Given the description of an element on the screen output the (x, y) to click on. 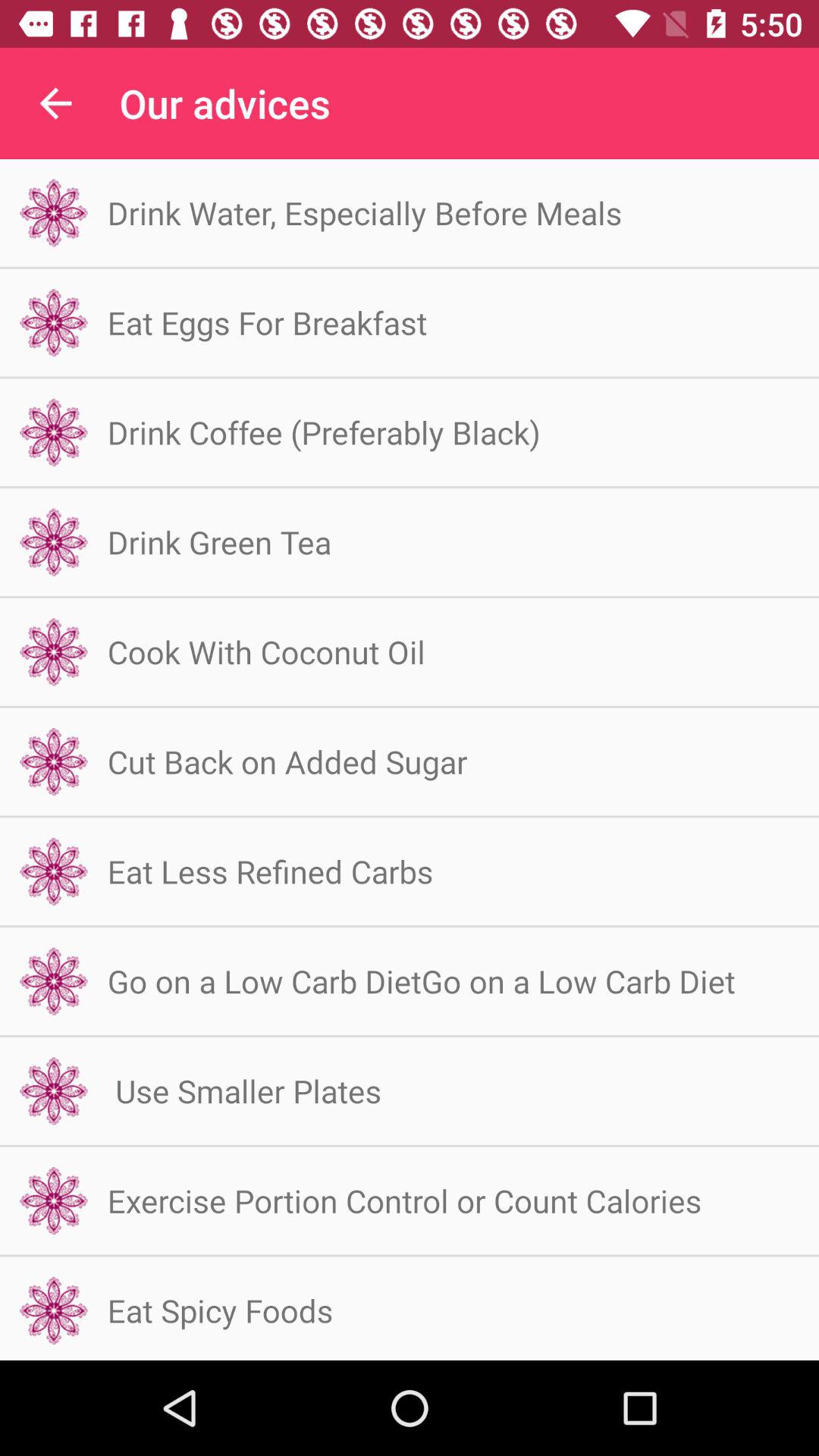
choose icon below the exercise portion control item (220, 1310)
